Given the description of an element on the screen output the (x, y) to click on. 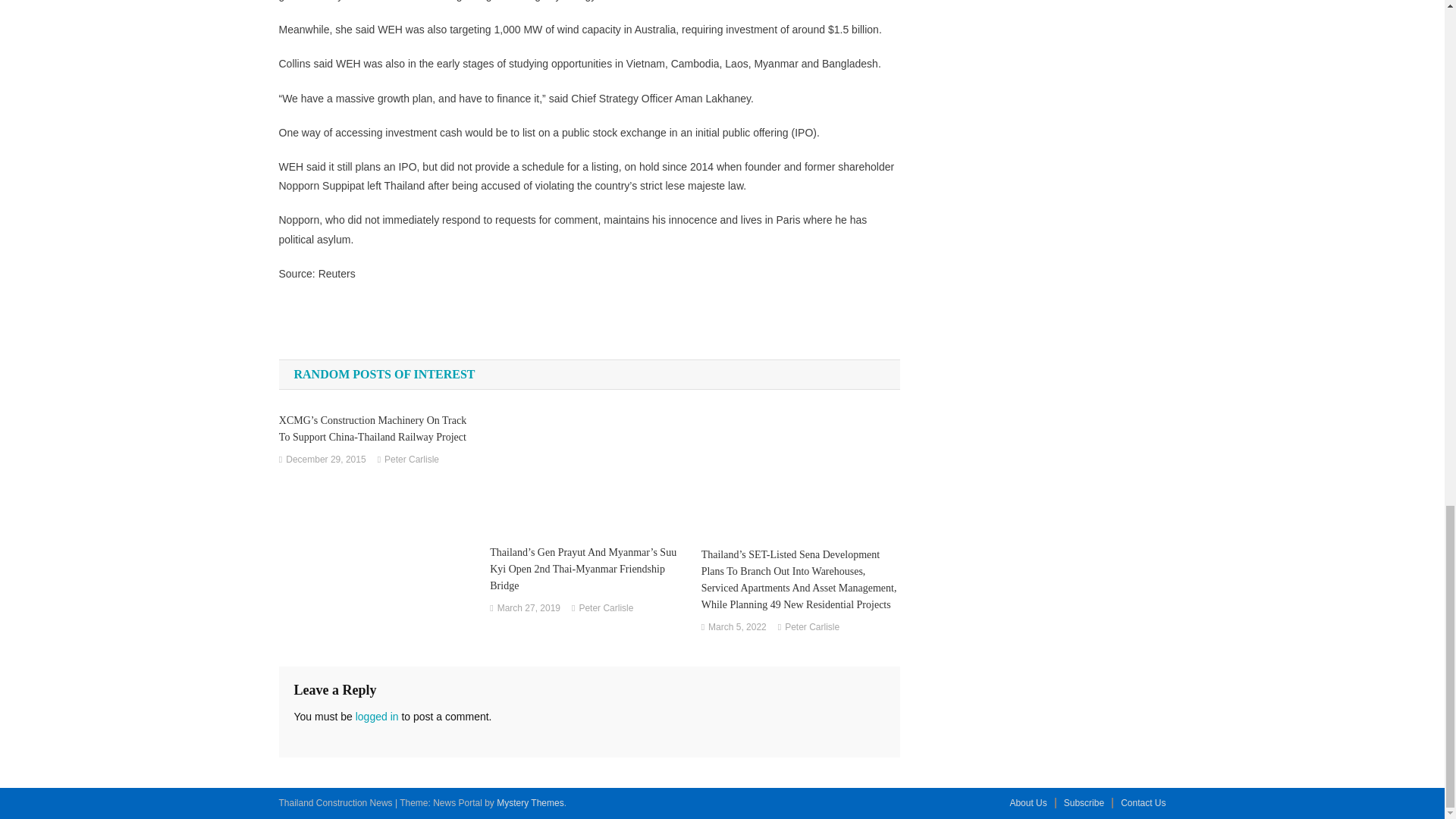
Peter Carlisle (411, 460)
December 29, 2015 (325, 460)
